Given the description of an element on the screen output the (x, y) to click on. 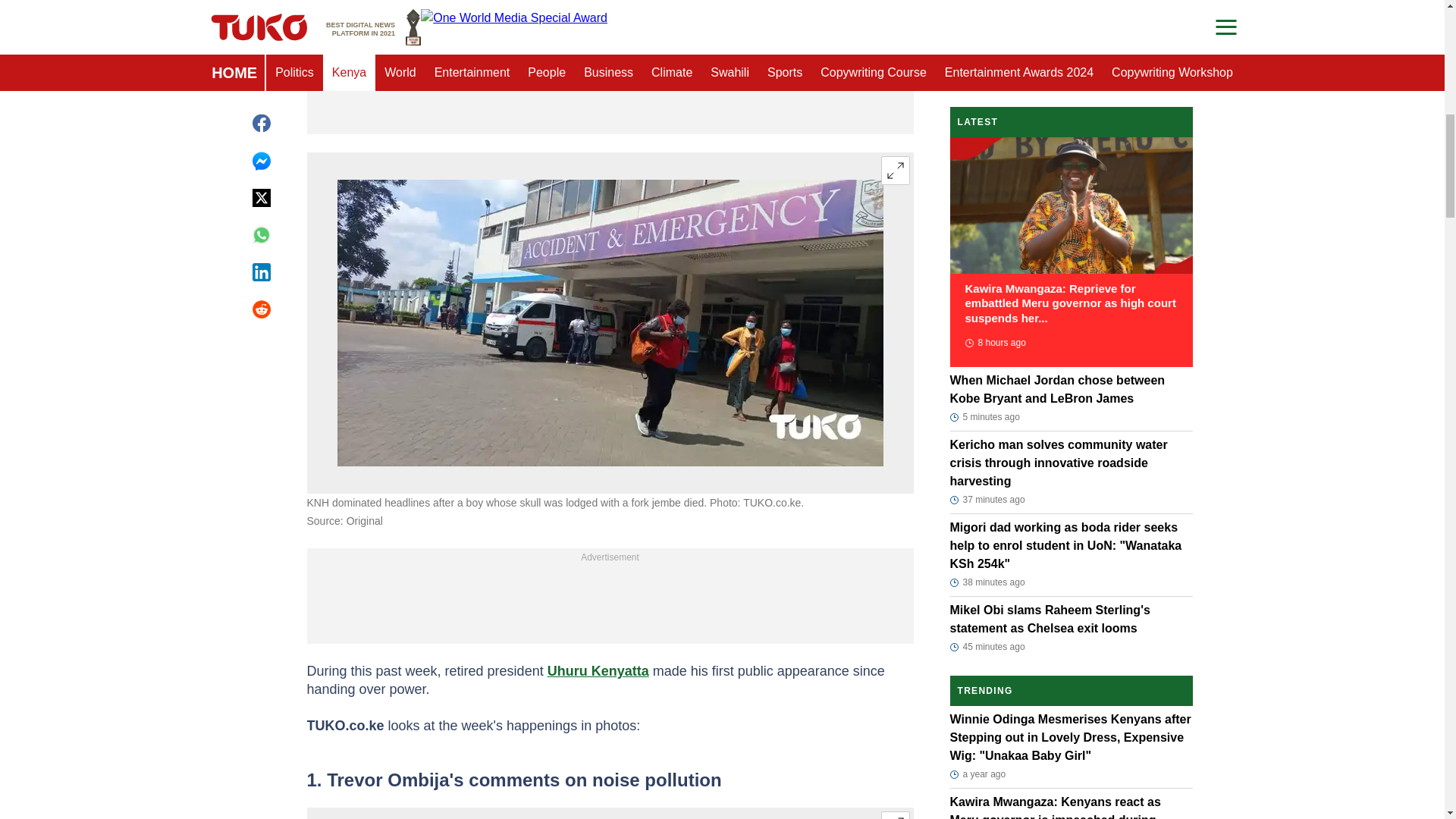
Expand image (895, 815)
Expand image (895, 170)
